Given the description of an element on the screen output the (x, y) to click on. 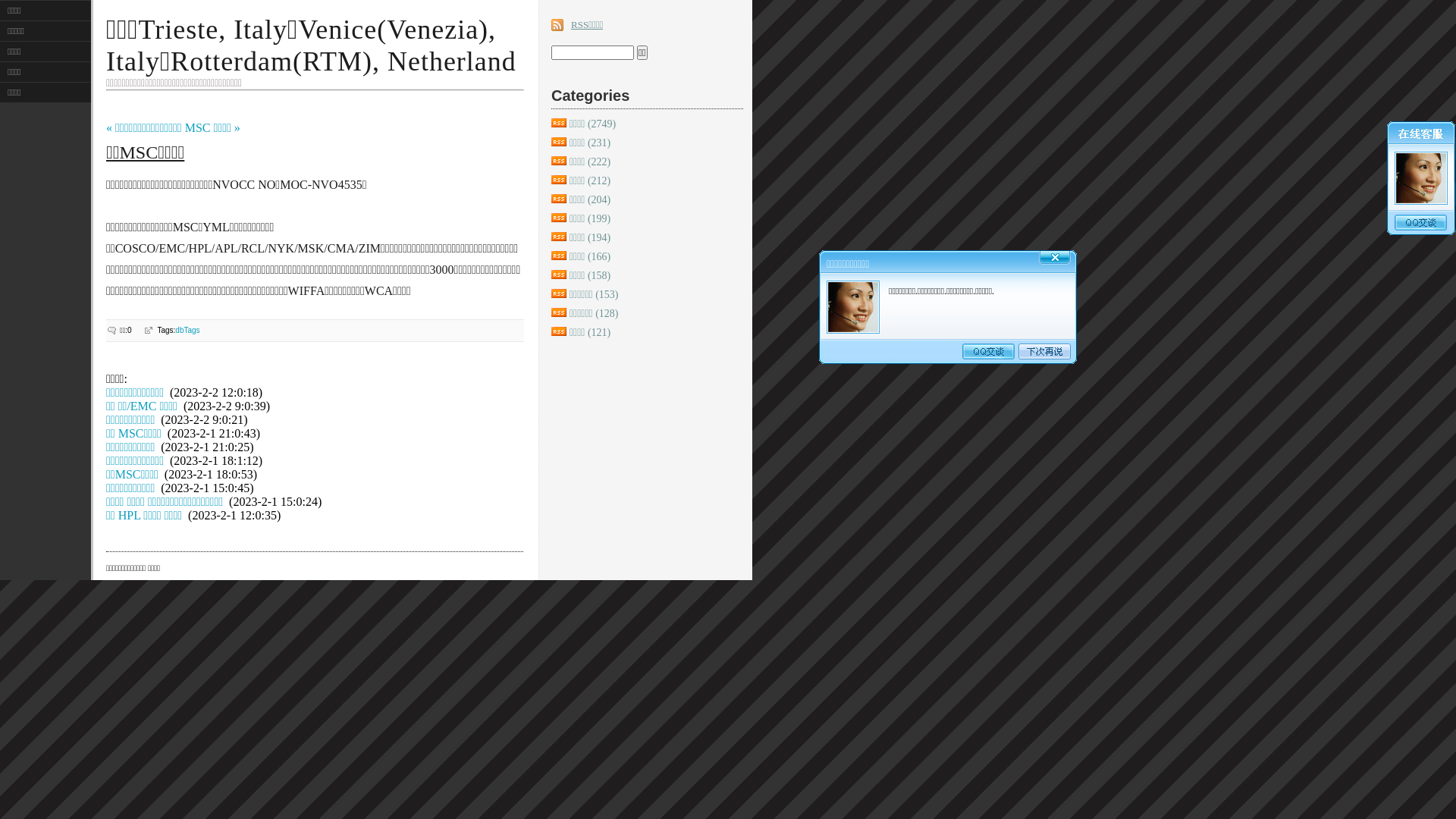
rss Element type: hover (558, 160)
rss Element type: hover (558, 179)
rss Element type: hover (558, 330)
rss Element type: hover (558, 311)
rss Element type: hover (558, 198)
rss Element type: hover (558, 255)
rss Element type: hover (558, 274)
dbTags Element type: text (187, 330)
rss Element type: hover (558, 141)
rss Element type: hover (558, 236)
rss Element type: hover (558, 122)
rss Element type: hover (558, 217)
rss Element type: hover (558, 293)
